Given the description of an element on the screen output the (x, y) to click on. 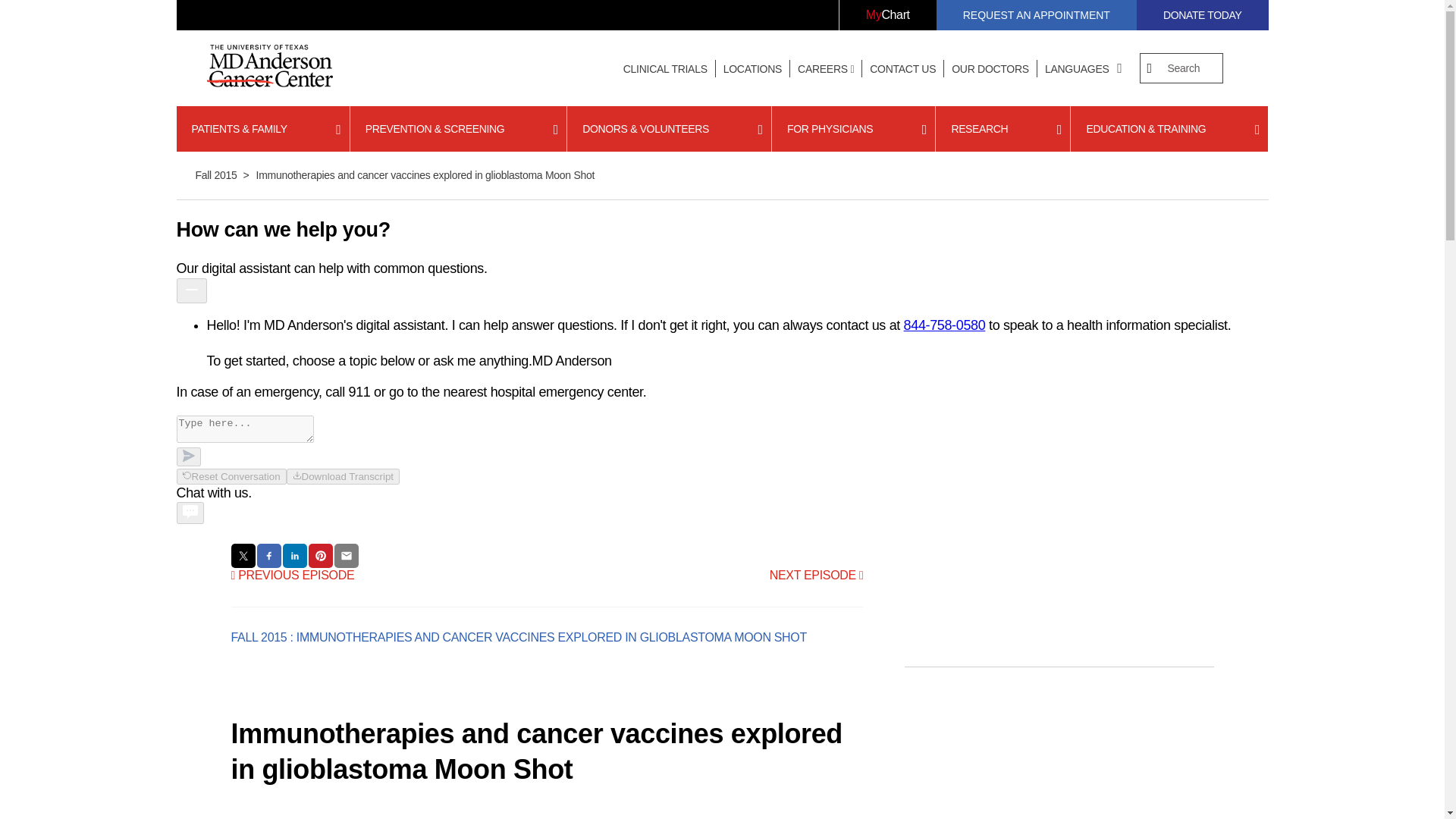
OUR DOCTORS (989, 69)
CLINICAL TRIALS (664, 69)
CAREERS (825, 69)
CONTACT US (902, 69)
 Opens a new window (888, 15)
MyChart (888, 15)
LOCATIONS (752, 69)
